Given the description of an element on the screen output the (x, y) to click on. 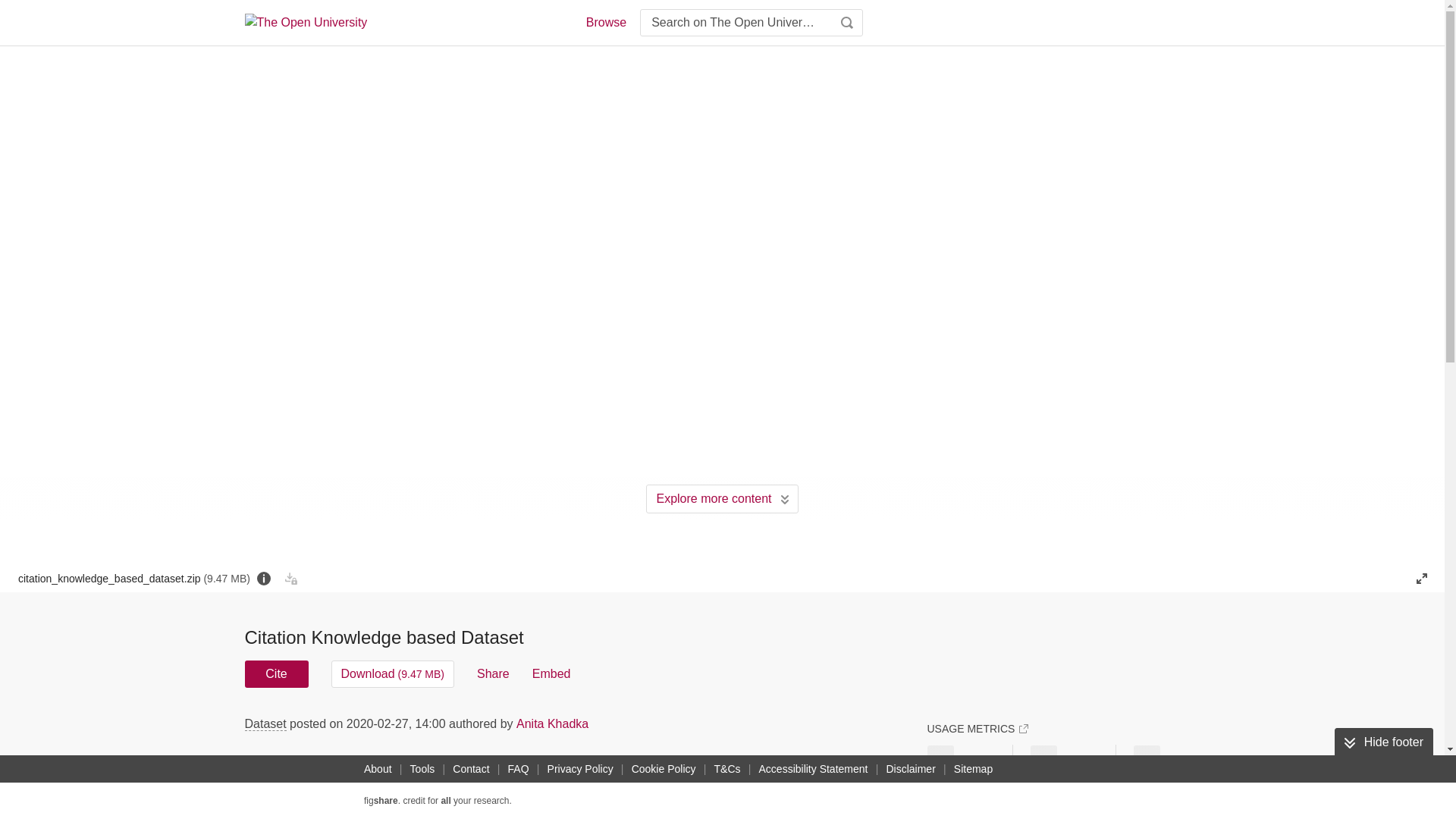
Cookie Policy (663, 769)
Contact (470, 769)
FAQ (518, 769)
About (377, 769)
USAGE METRICS (976, 728)
Hide footer (1383, 742)
Anita Khadka (552, 723)
Cite (275, 673)
Embed (551, 673)
Share (493, 673)
Explore more content (721, 498)
Browse (605, 22)
Tools (422, 769)
Privacy Policy (580, 769)
